Given the description of an element on the screen output the (x, y) to click on. 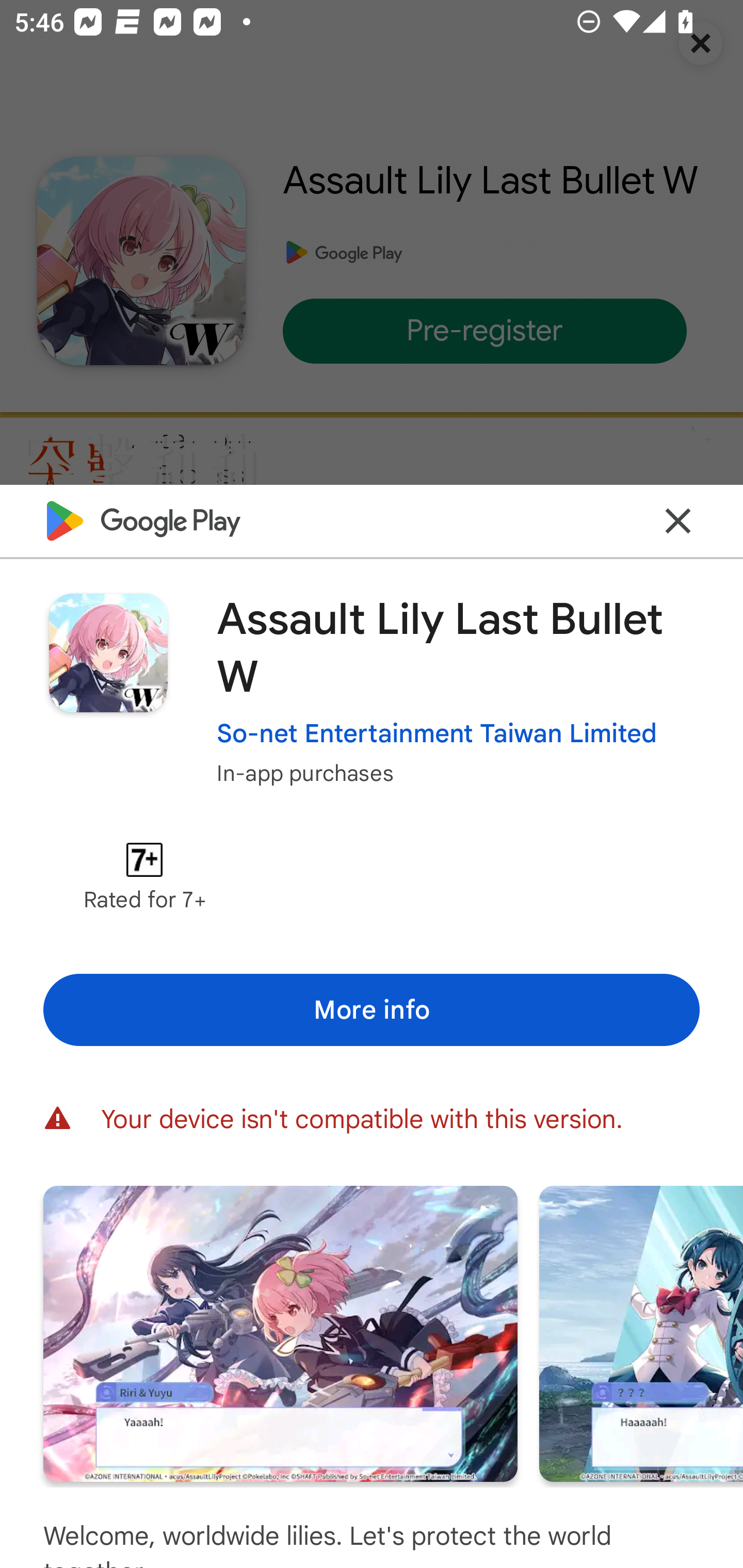
Close (677, 520)
So-net Entertainment Taiwan Limited (436, 732)
More info (371, 1009)
Screenshot "1" of "8" (280, 1333)
Screenshot "2" of "8" (641, 1333)
